Given the description of an element on the screen output the (x, y) to click on. 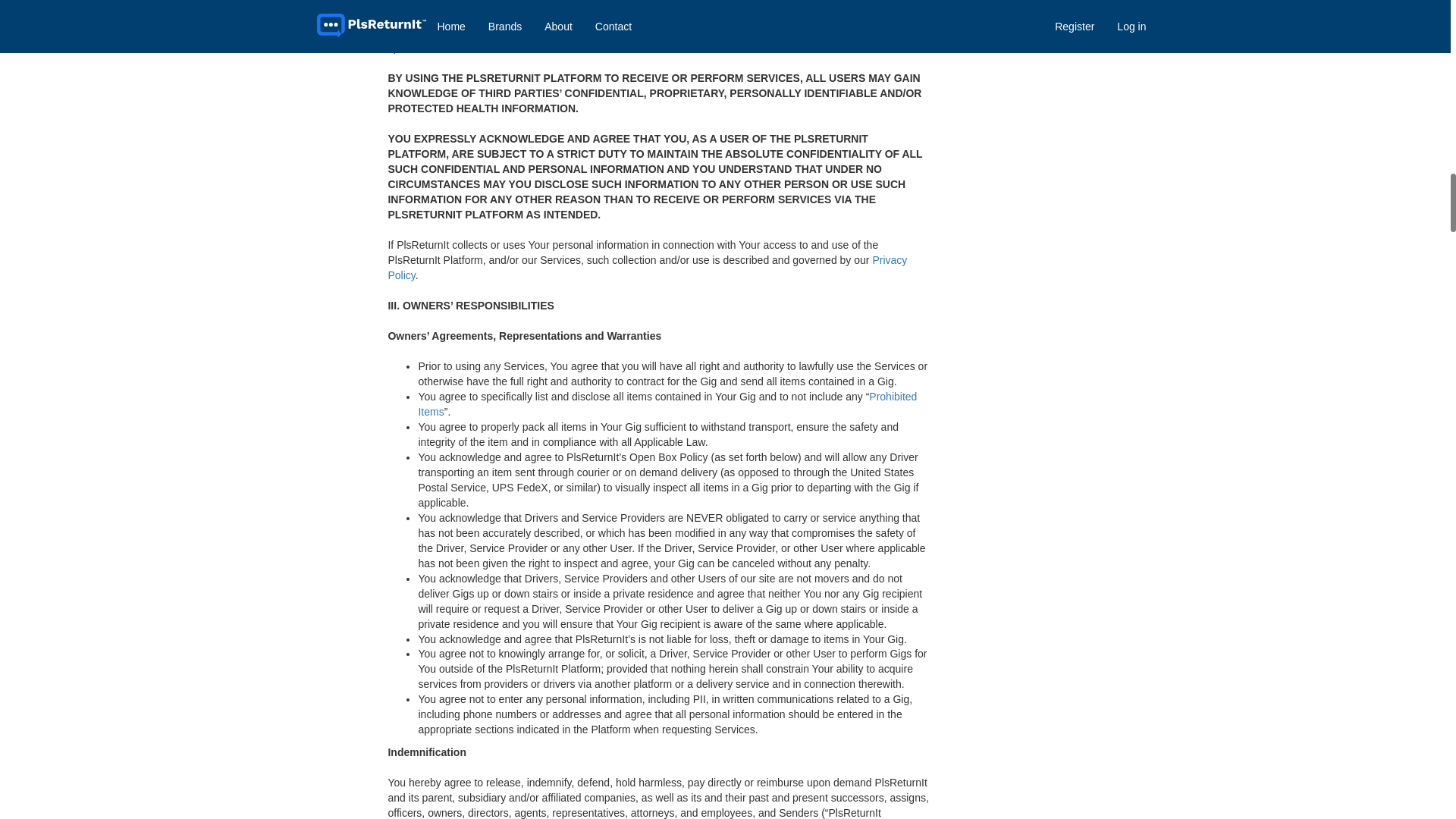
Privacy Policy (647, 267)
Prohibited Items (667, 403)
